Given the description of an element on the screen output the (x, y) to click on. 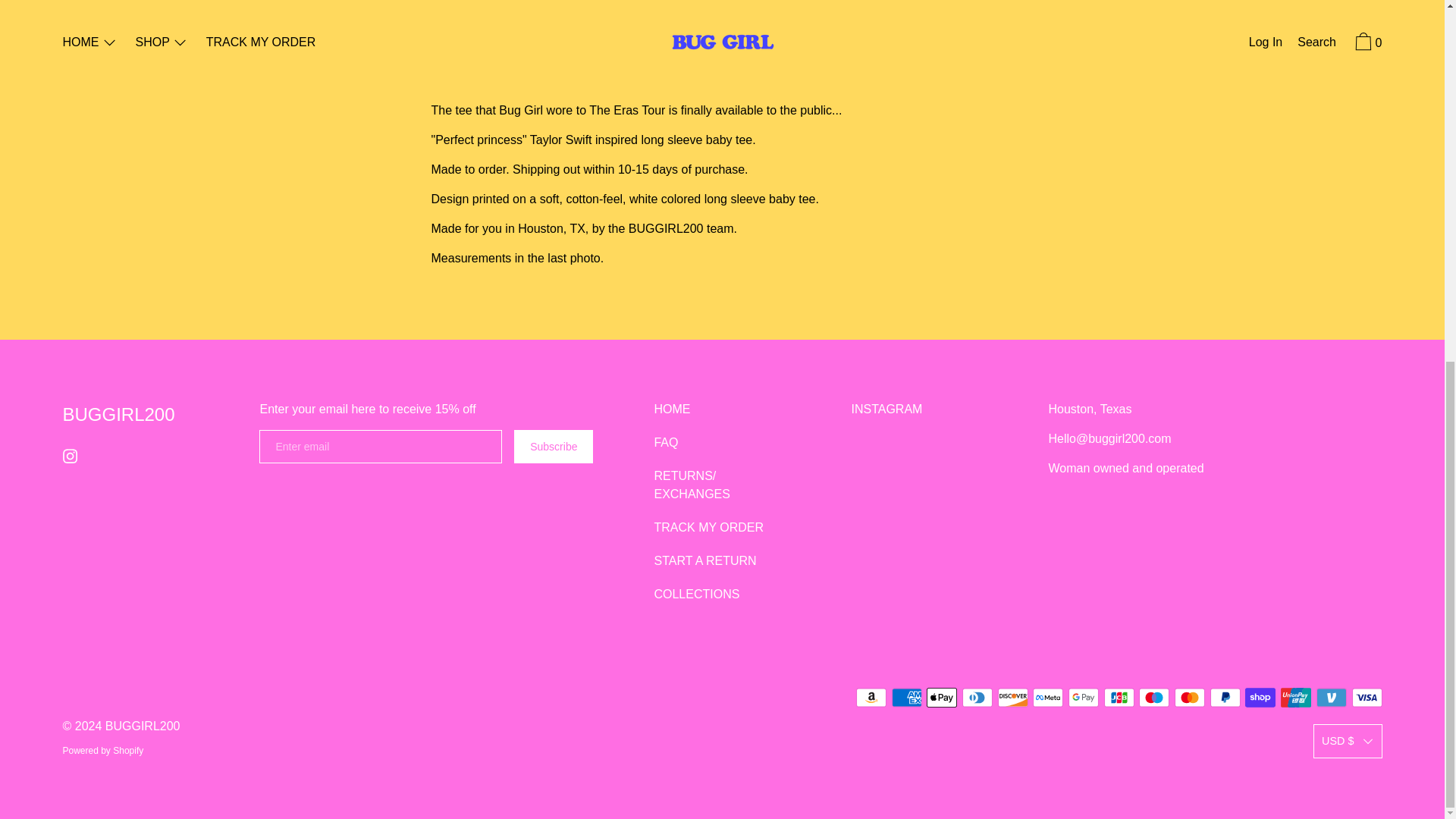
Discover (1012, 697)
American Express (906, 697)
Amazon (871, 697)
BUGGIRL200 on Instagram (69, 455)
Maestro (1153, 697)
Meta Pay (1047, 697)
JCB (1118, 697)
Apple Pay (941, 697)
Shop Pay (1259, 697)
Venmo (1331, 697)
Diners Club (977, 697)
Mastercard (1189, 697)
PayPal (1224, 697)
Union Pay (1296, 697)
Visa (1366, 697)
